Given the description of an element on the screen output the (x, y) to click on. 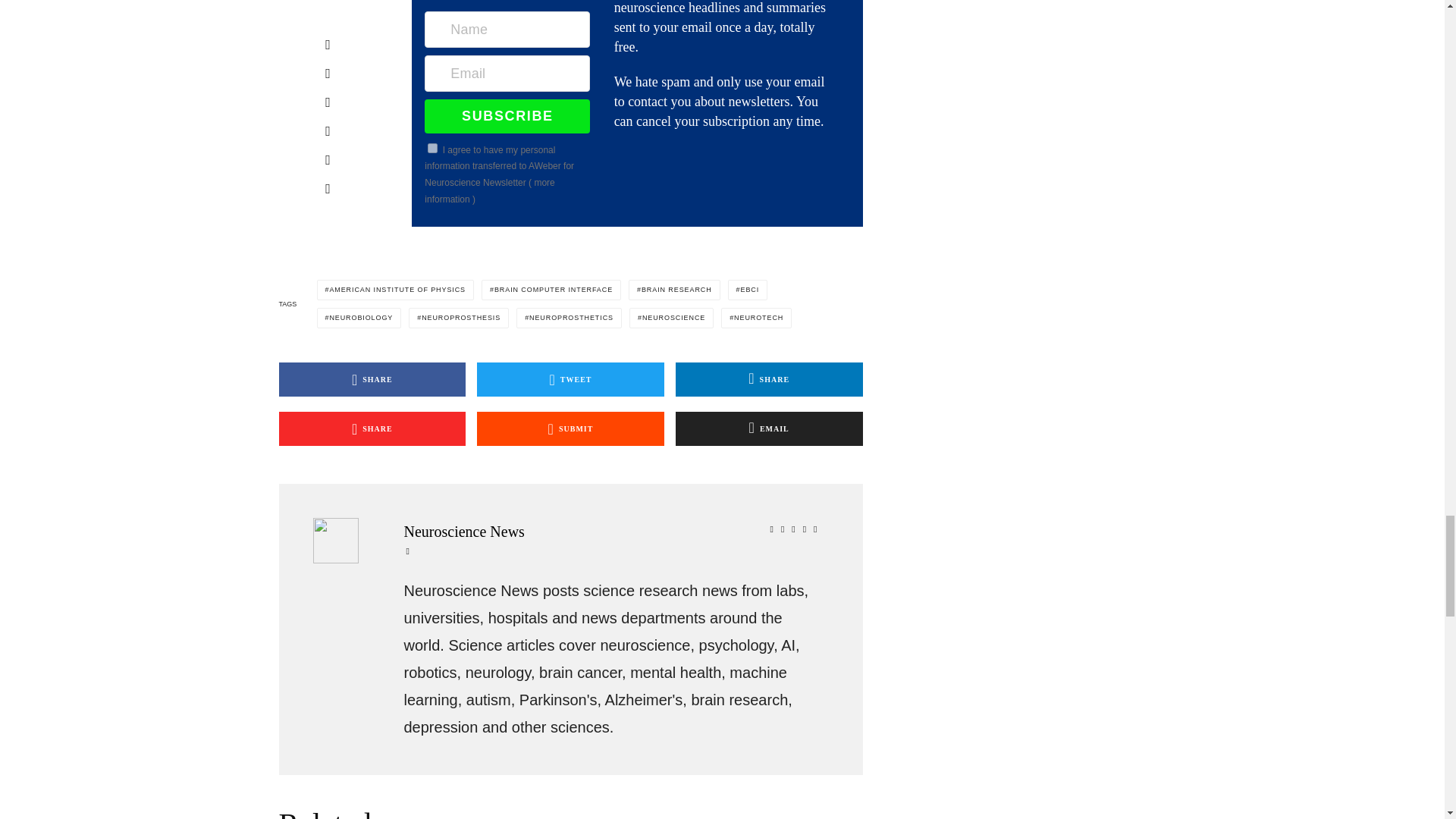
SUBSCRIBE (507, 115)
NEUROPROSTHETICS (568, 317)
NEUROSCIENCE (670, 317)
SHARE (372, 428)
NEUROBIOLOGY (359, 317)
BRAIN COMPUTER INTERFACE (551, 290)
SHARE (769, 379)
NEUROPROSTHESIS (458, 317)
SUBSCRIBE (507, 115)
BRAIN RESEARCH (674, 290)
